Given the description of an element on the screen output the (x, y) to click on. 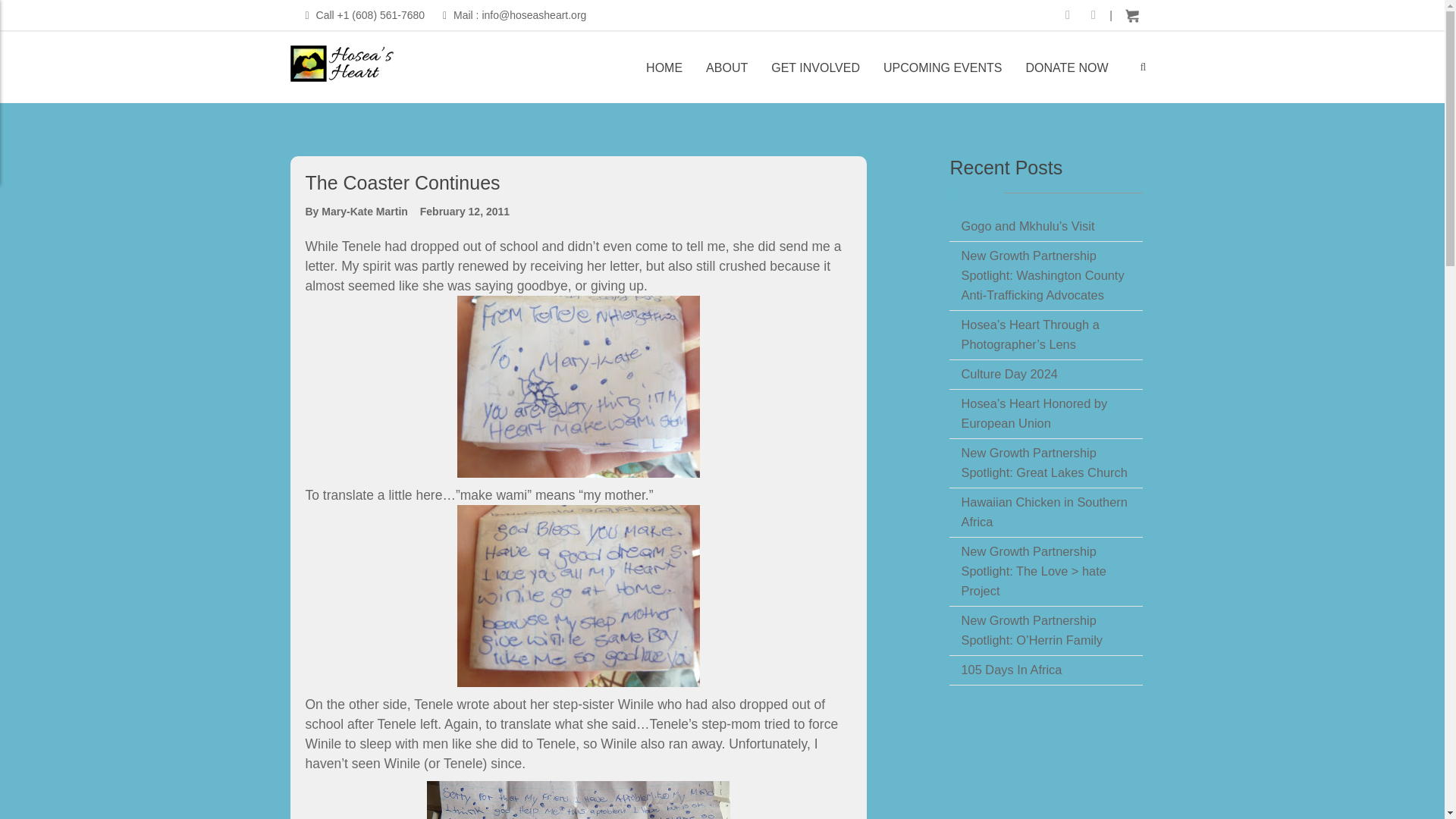
Hawaiian Chicken in Southern Africa (1051, 511)
Culture Day 2024 (1008, 373)
105 Days In Africa (1010, 669)
GET INVOLVED (815, 75)
UPCOMING EVENTS (942, 75)
New Growth Partnership Spotlight: Great Lakes Church (1051, 462)
HOME (664, 75)
DONATE NOW (1066, 75)
ABOUT (726, 75)
